Given the description of an element on the screen output the (x, y) to click on. 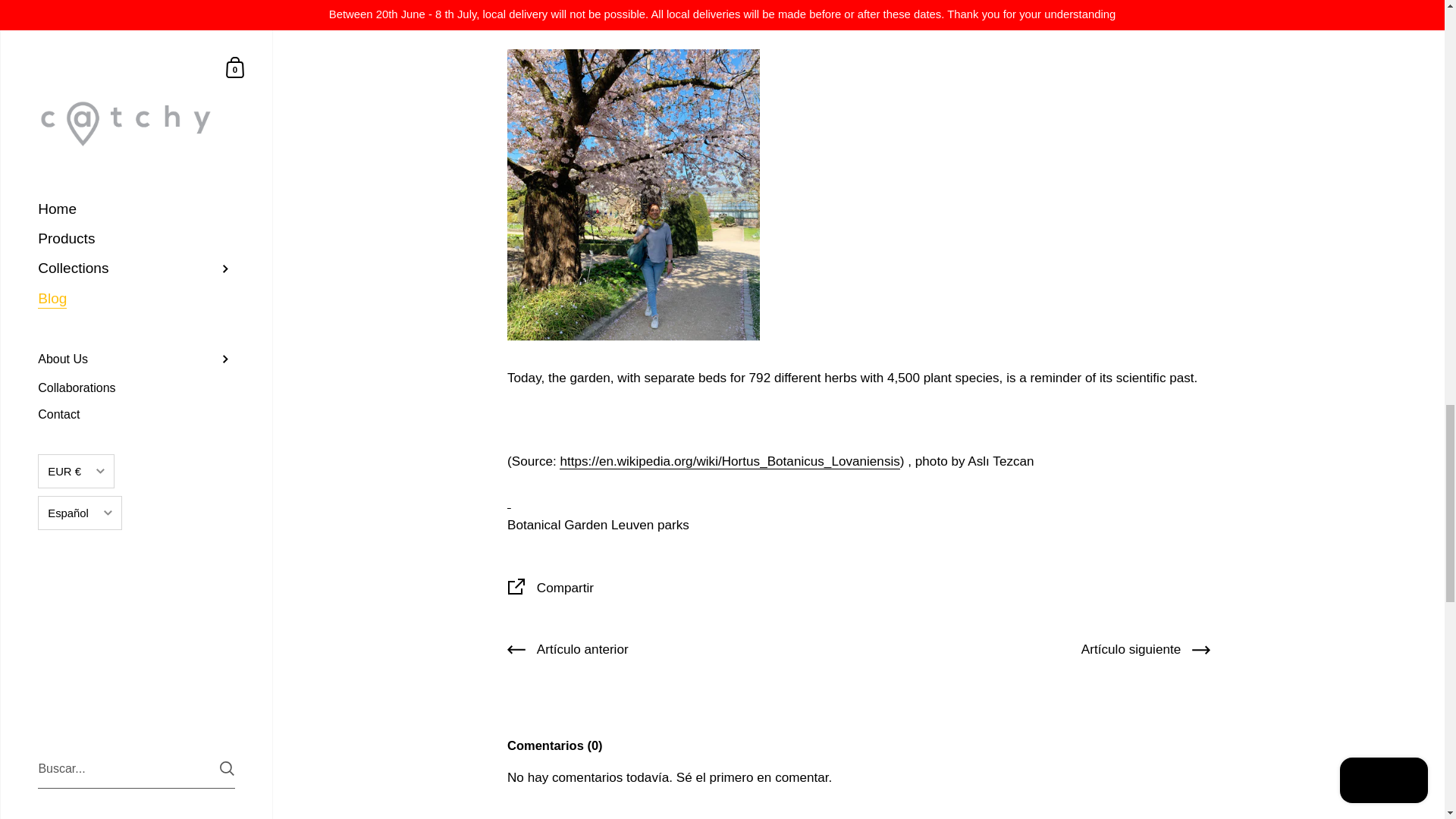
Botanical Garden (556, 524)
